Given the description of an element on the screen output the (x, y) to click on. 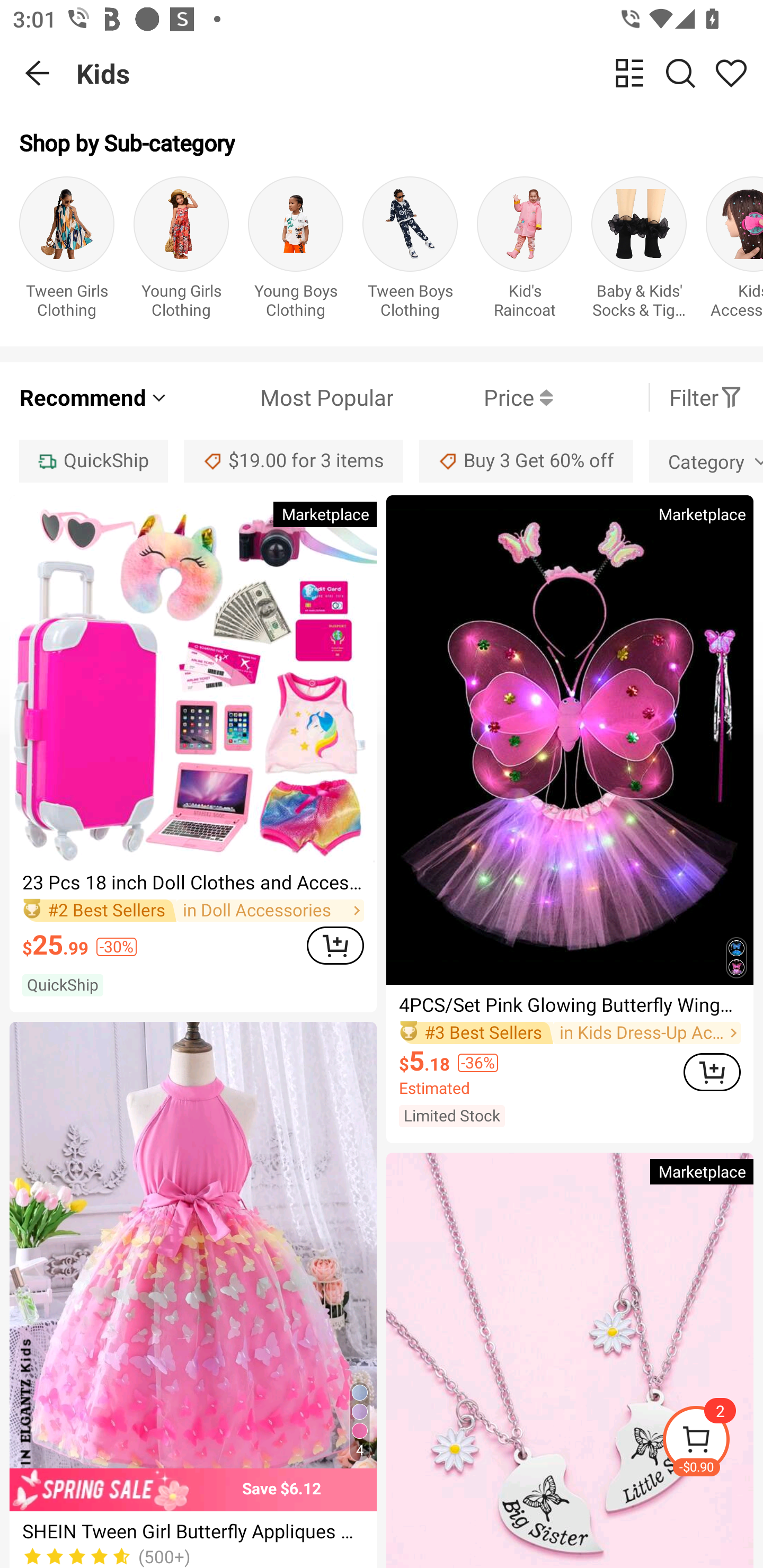
Kids change view Search Share (419, 72)
change view (629, 72)
Search (679, 72)
Share (730, 72)
Tween Girls Clothing (66, 251)
Young Girls Clothing (180, 251)
Young Boys Clothing (295, 251)
Tween Boys Clothing (409, 251)
Kid's Raincoat (524, 251)
Baby & Kids' Socks & Tights (638, 251)
Kids Accessories (734, 251)
Recommend (94, 397)
Most Popular (280, 397)
Price (472, 397)
Filter (705, 397)
QuickShip (93, 460)
$19.00 for 3 items (292, 460)
Buy 3 Get 60% off (525, 460)
Category (706, 460)
#2 Best Sellers in Doll Accessories (192, 910)
ADD TO CART (334, 945)
#3 Best Sellers in Kids Dress-Up Accessories (569, 1032)
ADD TO CART (711, 1072)
-$0.90 (712, 1441)
